Given the description of an element on the screen output the (x, y) to click on. 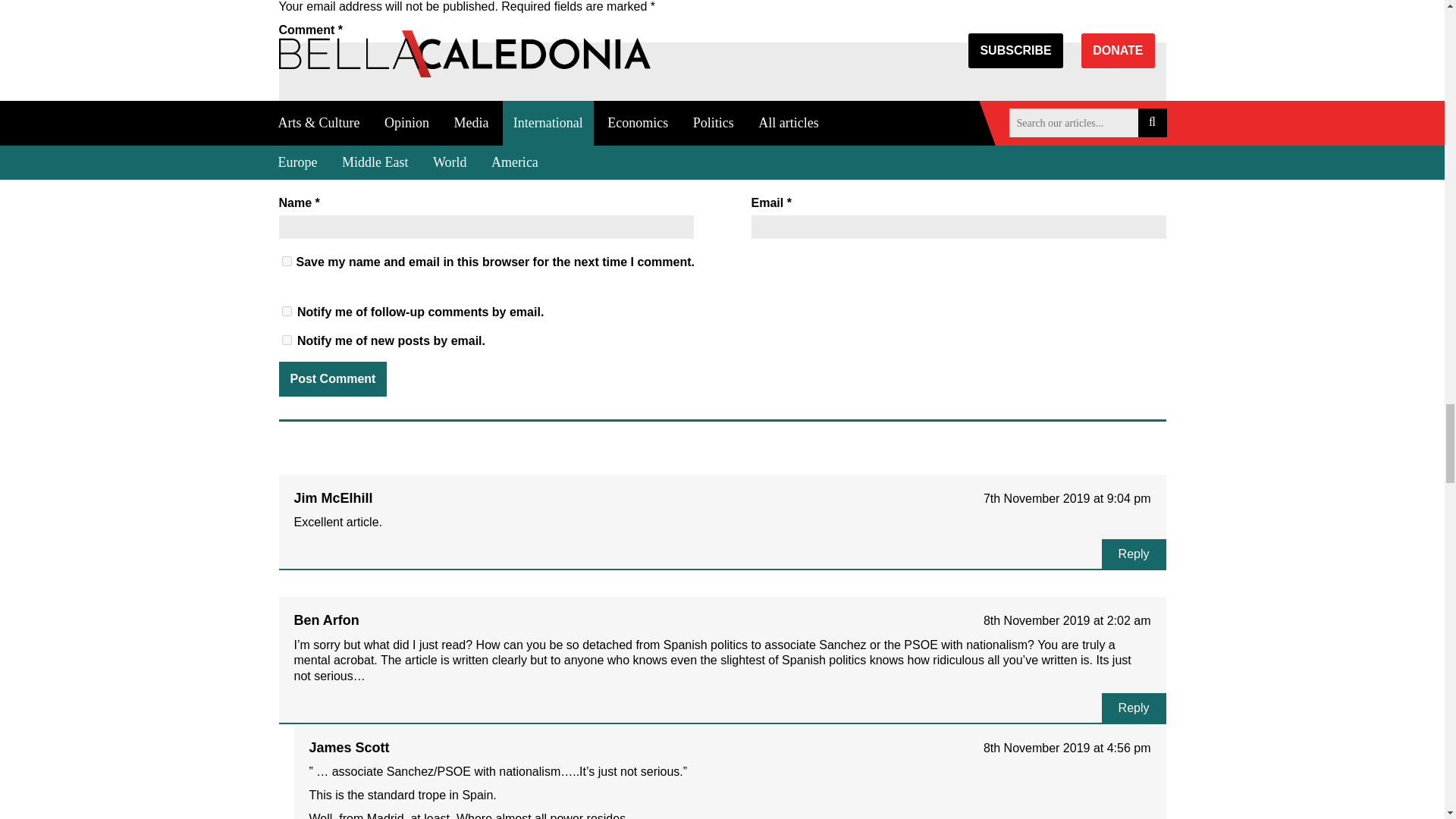
yes (287, 261)
Post Comment (333, 378)
subscribe (287, 339)
subscribe (287, 311)
